Given the description of an element on the screen output the (x, y) to click on. 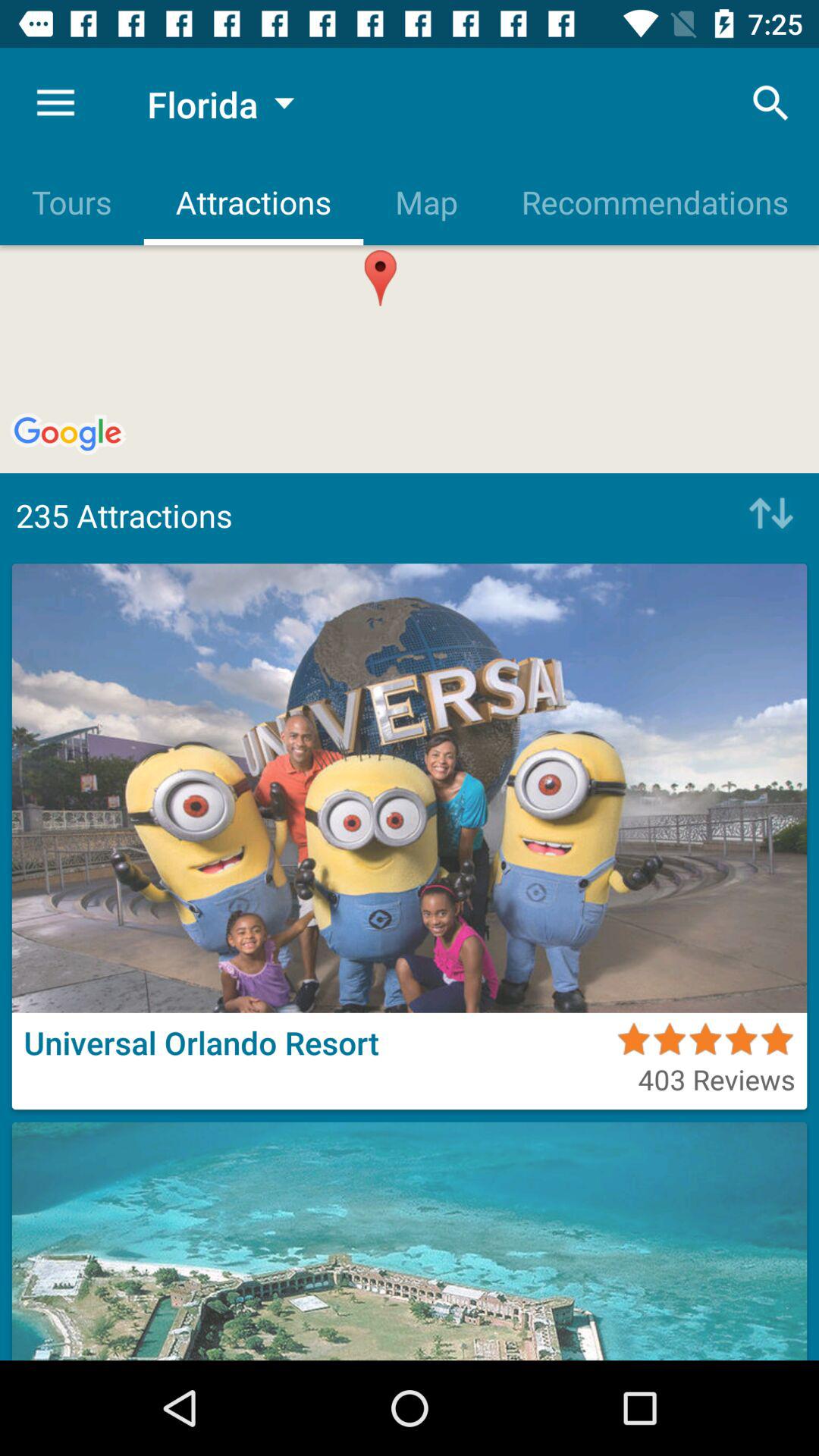
open item to the right of the 235 attractions item (767, 515)
